Given the description of an element on the screen output the (x, y) to click on. 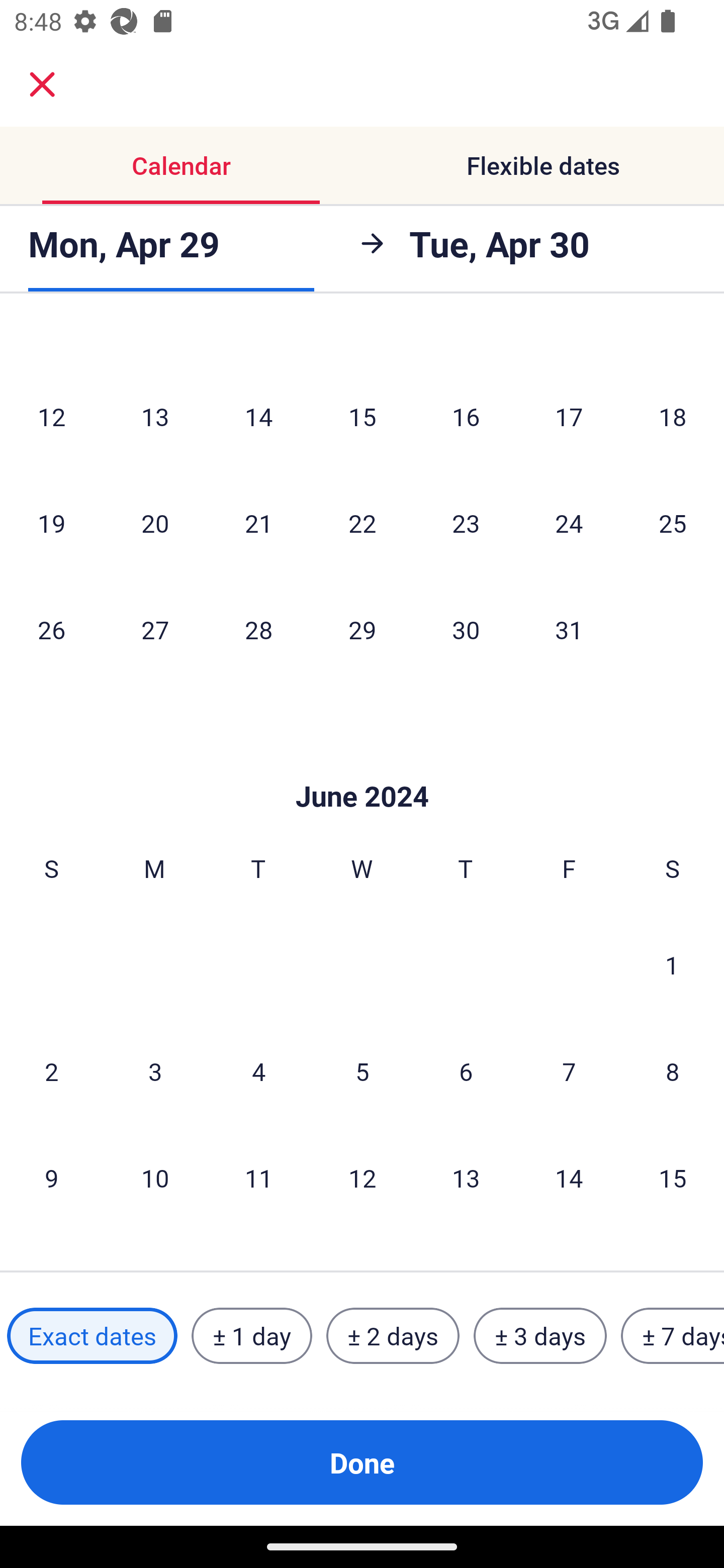
close. (42, 84)
Flexible dates (542, 164)
12 Sunday, May 12, 2024 (51, 416)
13 Monday, May 13, 2024 (155, 416)
14 Tuesday, May 14, 2024 (258, 416)
15 Wednesday, May 15, 2024 (362, 416)
16 Thursday, May 16, 2024 (465, 416)
17 Friday, May 17, 2024 (569, 416)
18 Saturday, May 18, 2024 (672, 416)
19 Sunday, May 19, 2024 (51, 522)
20 Monday, May 20, 2024 (155, 522)
21 Tuesday, May 21, 2024 (258, 522)
22 Wednesday, May 22, 2024 (362, 522)
23 Thursday, May 23, 2024 (465, 522)
24 Friday, May 24, 2024 (569, 522)
25 Saturday, May 25, 2024 (672, 522)
26 Sunday, May 26, 2024 (51, 629)
27 Monday, May 27, 2024 (155, 629)
28 Tuesday, May 28, 2024 (258, 629)
29 Wednesday, May 29, 2024 (362, 629)
30 Thursday, May 30, 2024 (465, 629)
31 Friday, May 31, 2024 (569, 629)
Skip to Done (362, 766)
1 Saturday, June 1, 2024 (672, 964)
2 Sunday, June 2, 2024 (51, 1070)
3 Monday, June 3, 2024 (155, 1070)
4 Tuesday, June 4, 2024 (258, 1070)
5 Wednesday, June 5, 2024 (362, 1070)
6 Thursday, June 6, 2024 (465, 1070)
7 Friday, June 7, 2024 (569, 1070)
8 Saturday, June 8, 2024 (672, 1070)
9 Sunday, June 9, 2024 (51, 1177)
10 Monday, June 10, 2024 (155, 1177)
11 Tuesday, June 11, 2024 (258, 1177)
12 Wednesday, June 12, 2024 (362, 1177)
13 Thursday, June 13, 2024 (465, 1177)
14 Friday, June 14, 2024 (569, 1177)
15 Saturday, June 15, 2024 (672, 1177)
Exact dates (92, 1335)
± 1 day (251, 1335)
± 2 days (392, 1335)
± 3 days (539, 1335)
± 7 days (672, 1335)
Done (361, 1462)
